Given the description of an element on the screen output the (x, y) to click on. 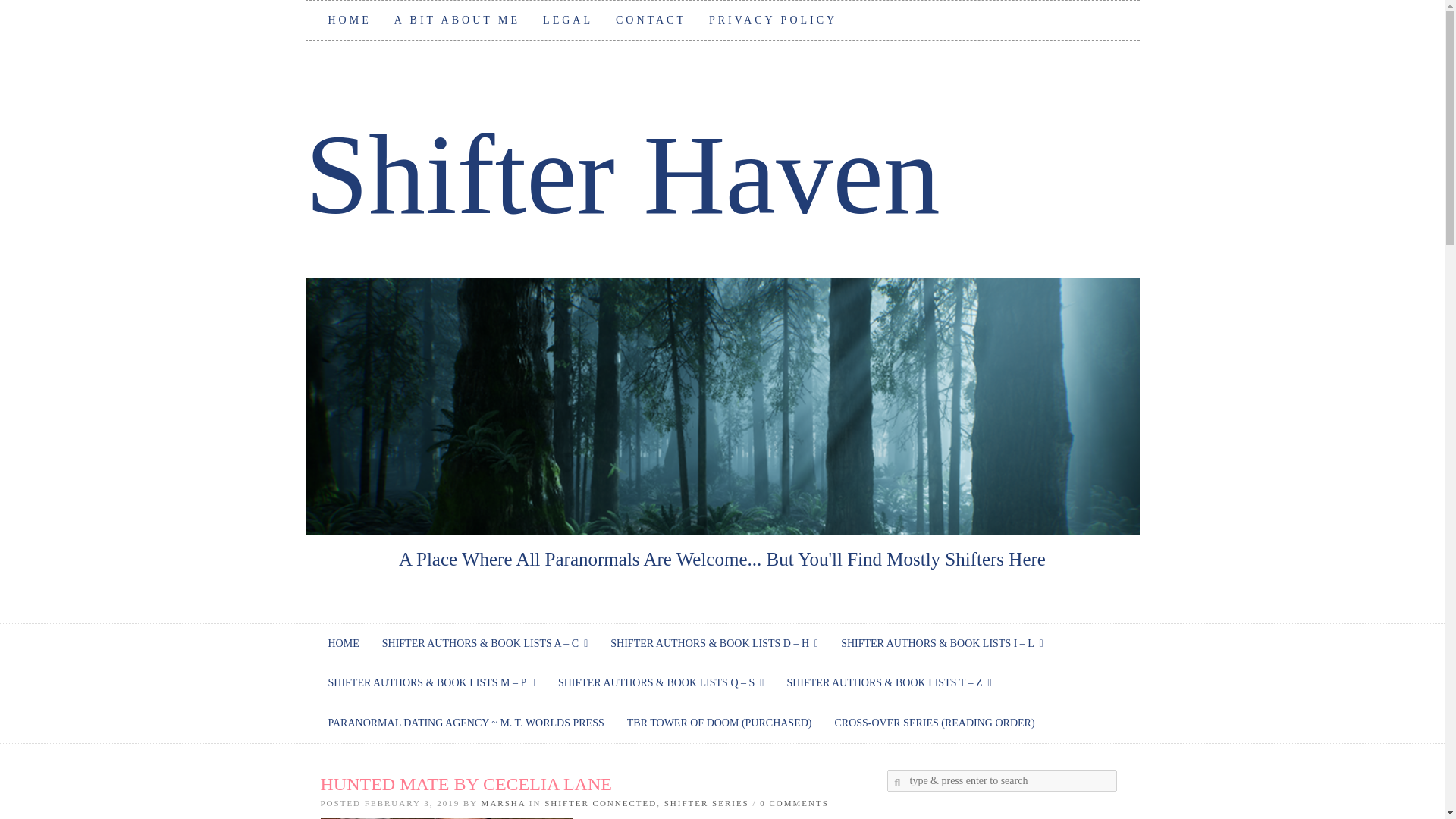
PRIVACY POLICY (772, 20)
View all posts in Shifter Series (706, 802)
LEGAL (567, 20)
A BIT ABOUT ME (456, 20)
Shifter Haven (621, 174)
HOME (344, 643)
CONTACT (650, 20)
View all posts in Shifter Connected (600, 802)
HOME (349, 20)
